Given the description of an element on the screen output the (x, y) to click on. 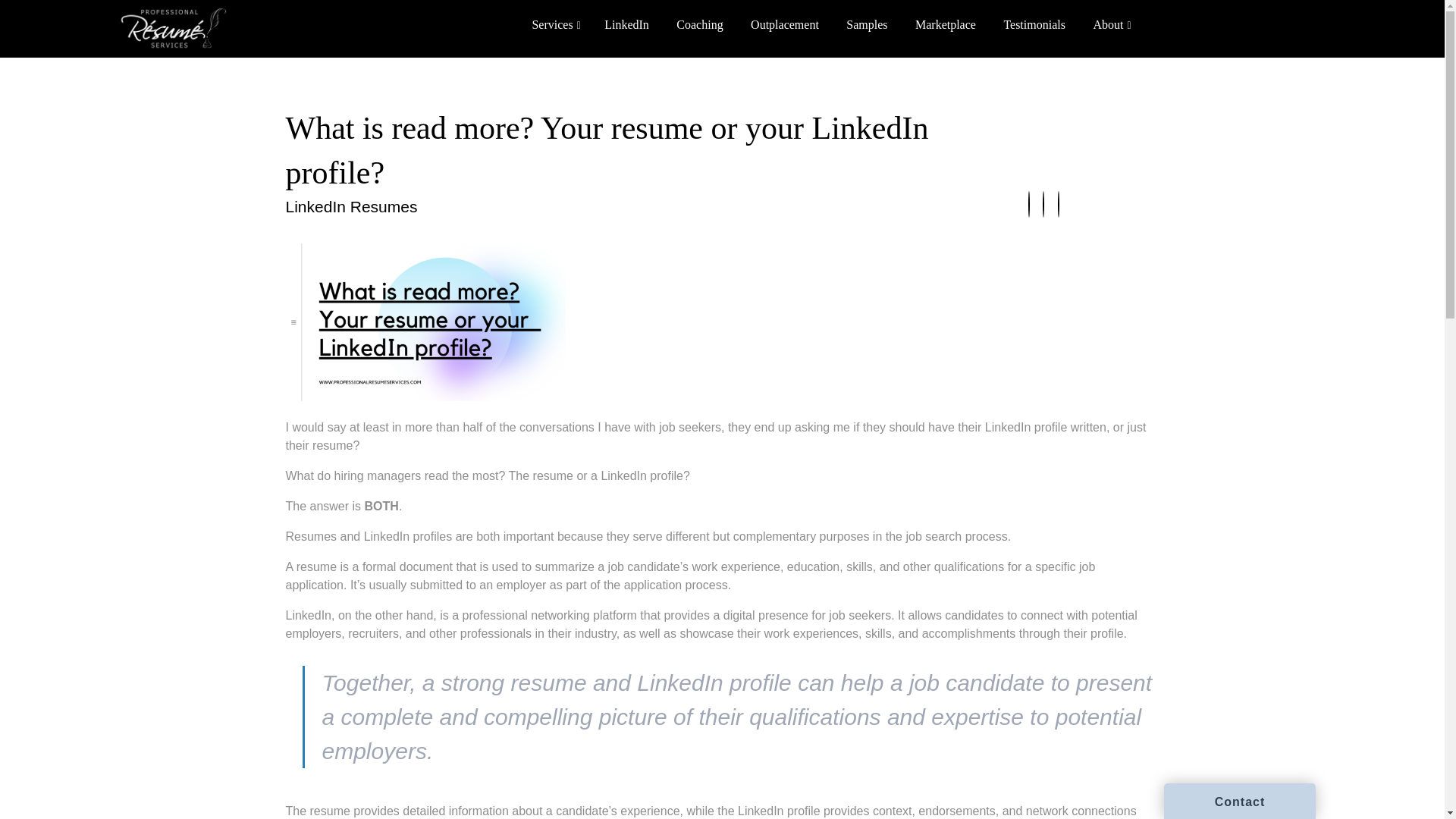
LinkedIn (626, 24)
Services (553, 24)
Outplacement (784, 24)
Coaching (699, 24)
